Given the description of an element on the screen output the (x, y) to click on. 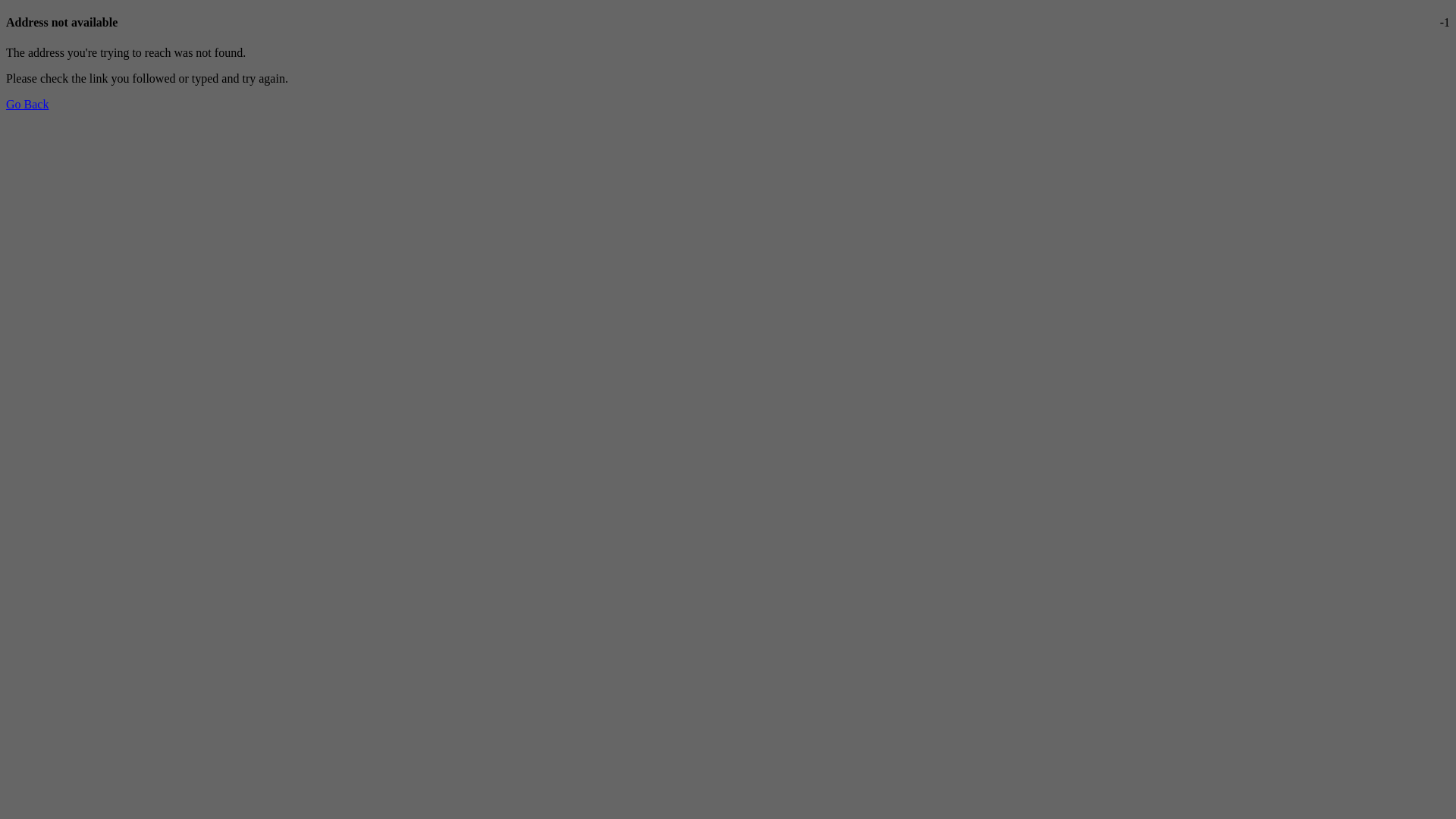
Go Back Element type: text (27, 103)
